Given the description of an element on the screen output the (x, y) to click on. 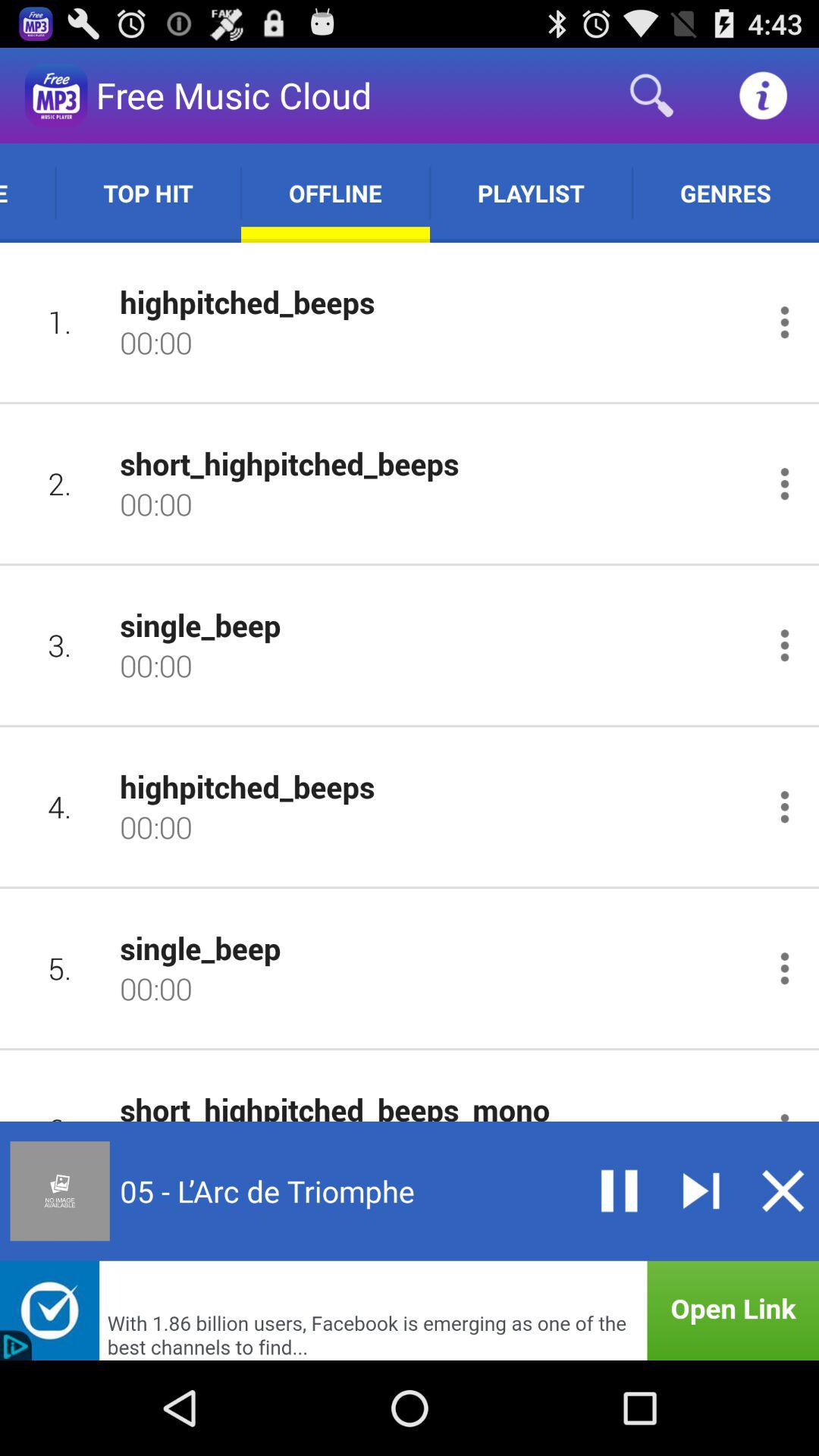
turn on the icon next to the genres app (530, 192)
